Given the description of an element on the screen output the (x, y) to click on. 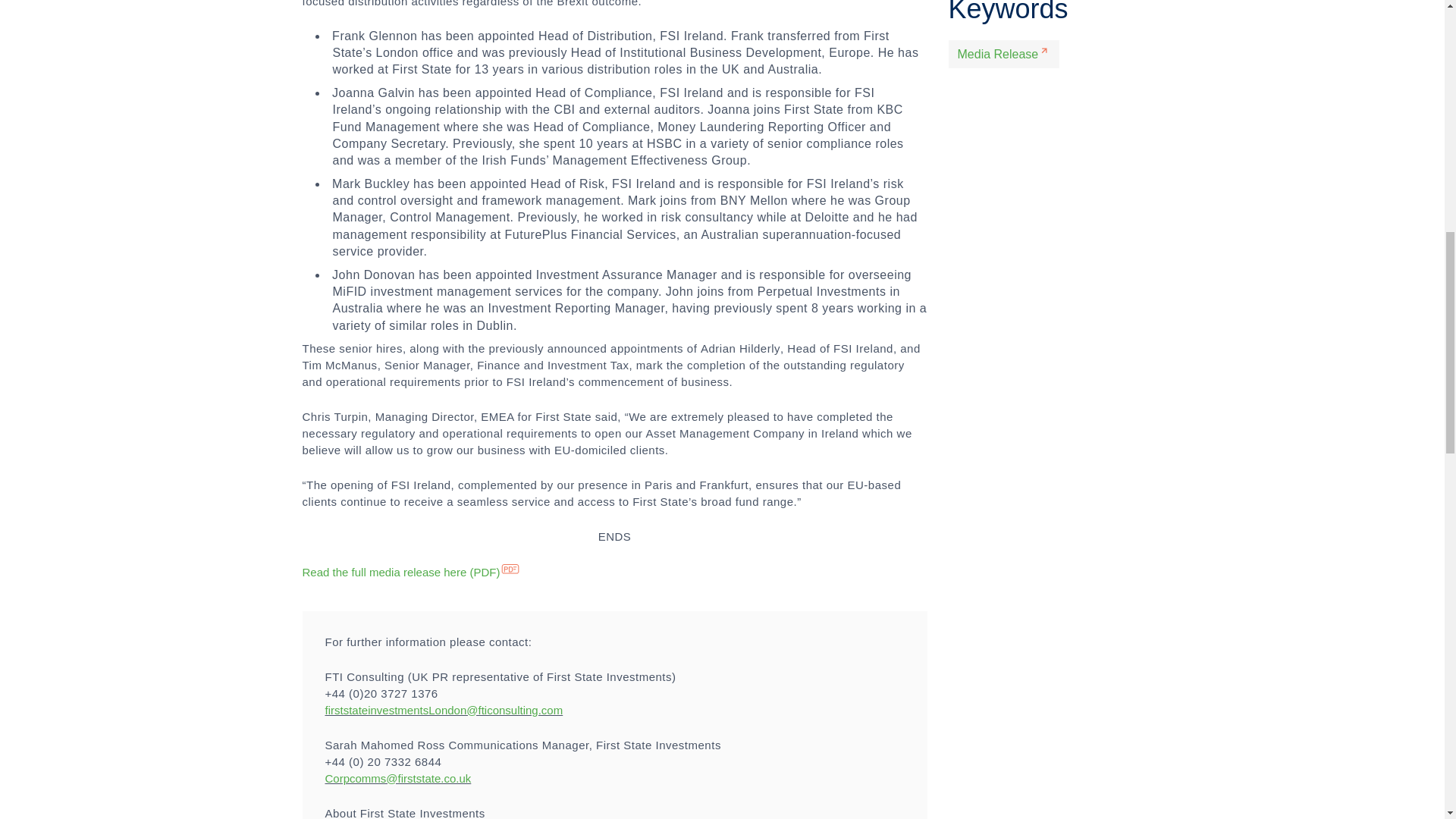
Read the full media release here (411, 571)
